Given the description of an element on the screen output the (x, y) to click on. 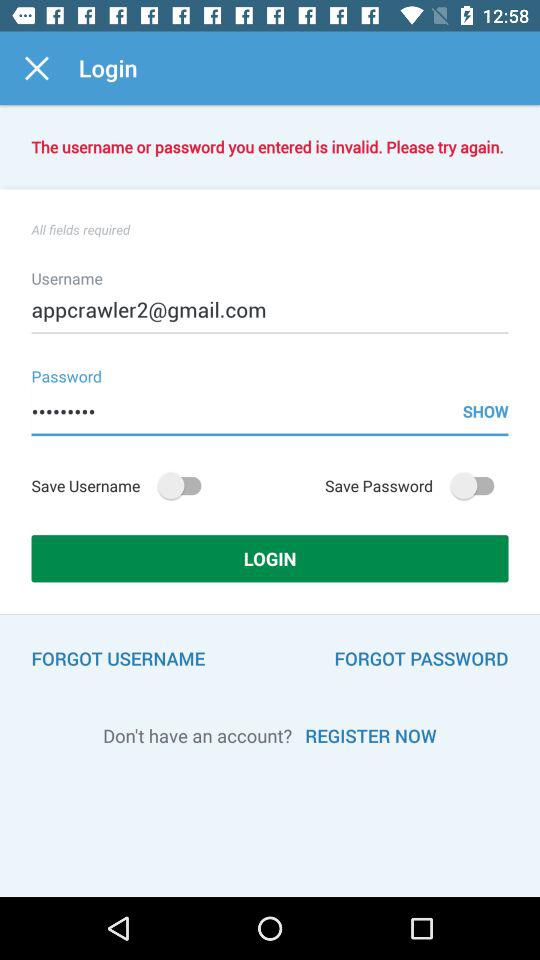
click on close button (39, 81)
